Given the description of an element on the screen output the (x, y) to click on. 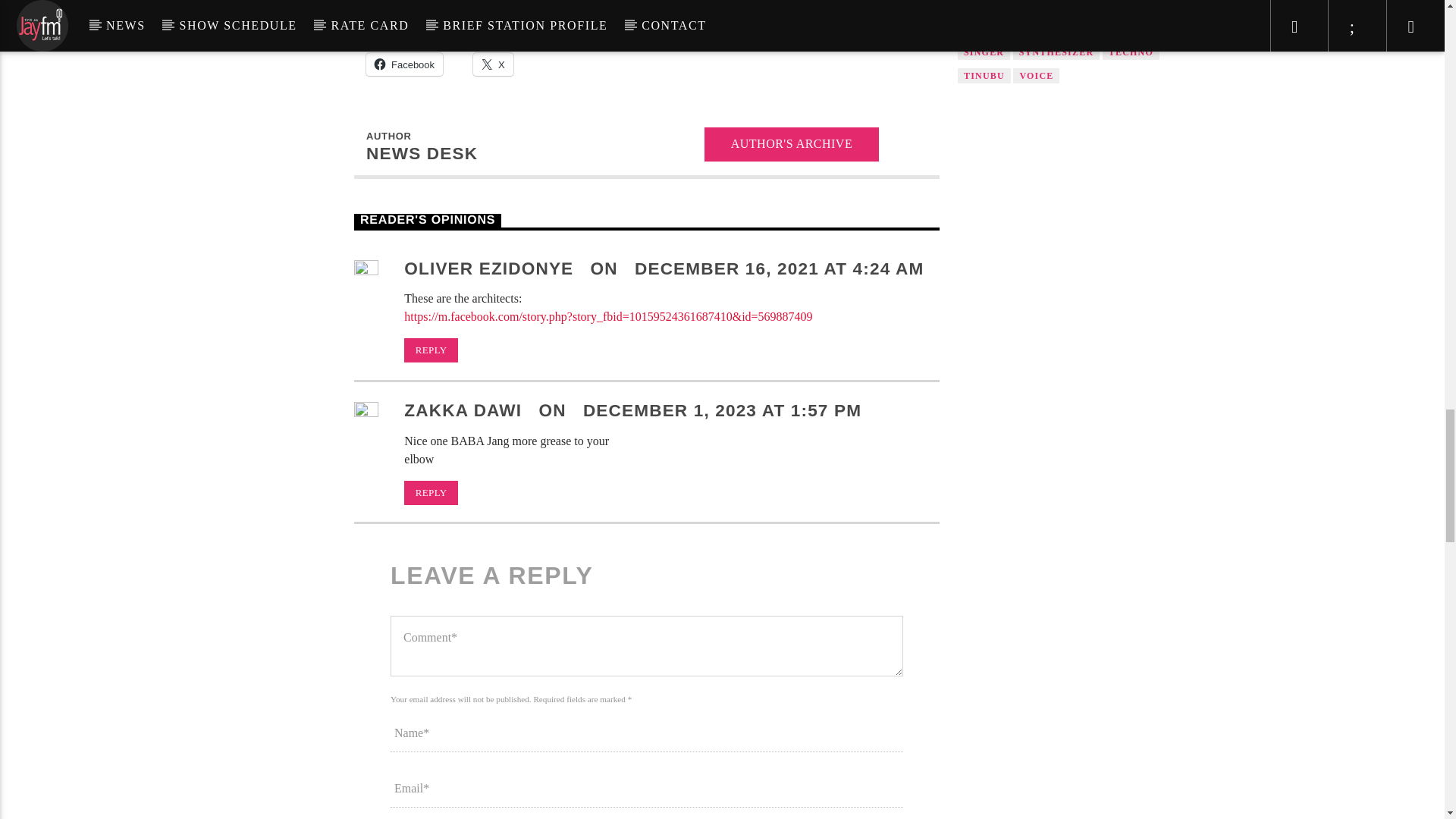
Click to share on Facebook (404, 64)
Click to share on X (493, 64)
